Given the description of an element on the screen output the (x, y) to click on. 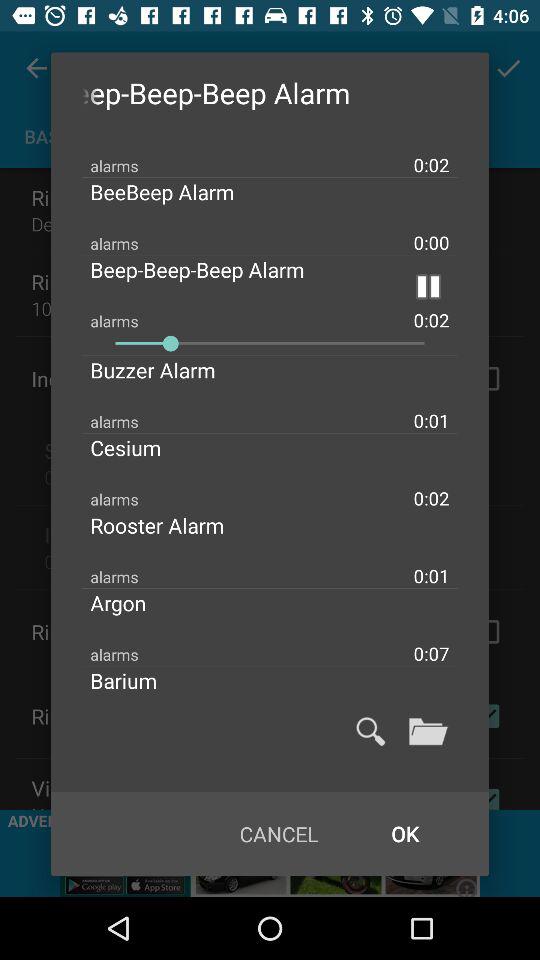
swipe until argon icon (134, 602)
